Given the description of an element on the screen output the (x, y) to click on. 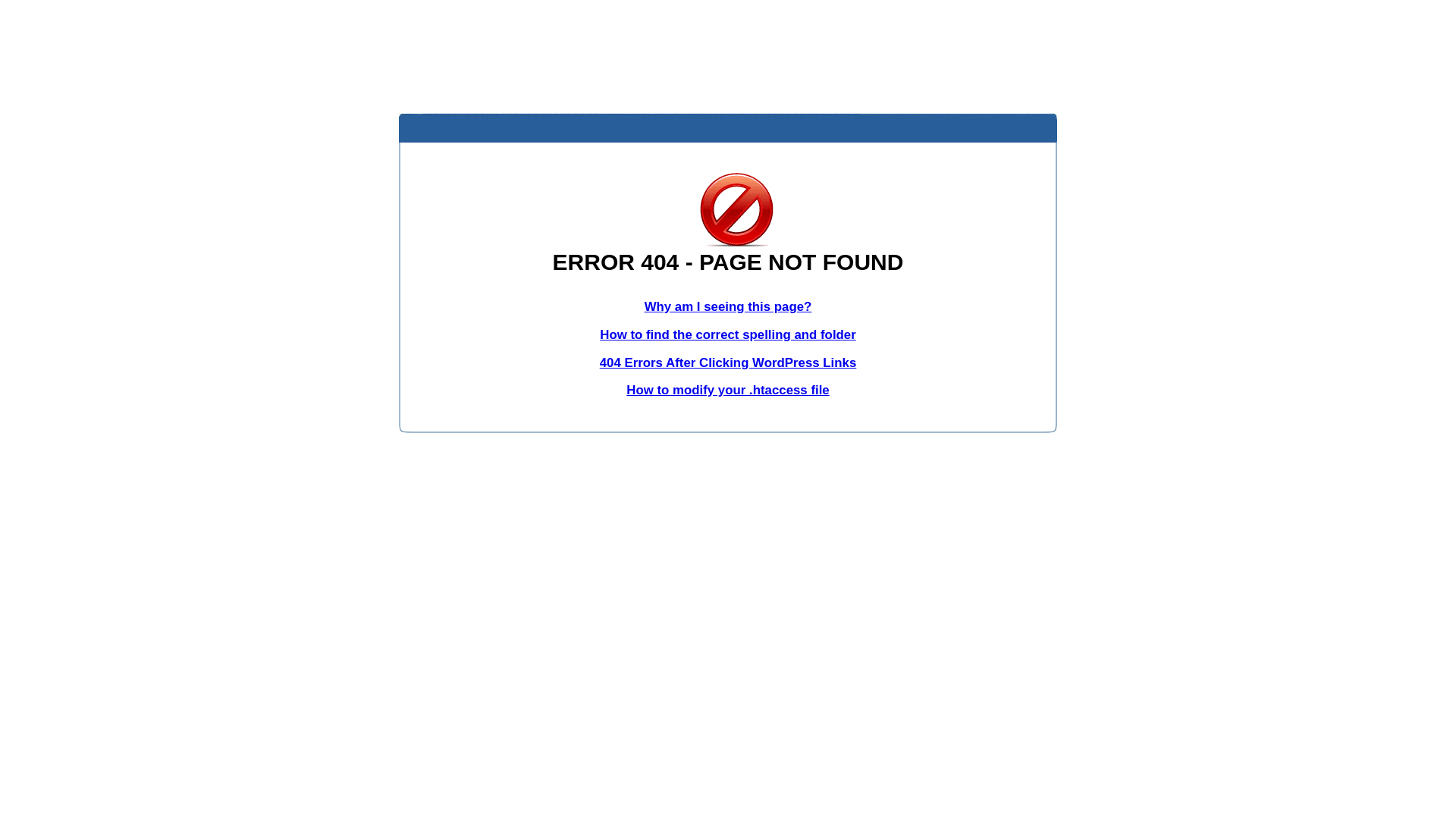
404 Errors After Clicking WordPress Links Element type: text (727, 362)
How to modify your .htaccess file Element type: text (727, 389)
How to find the correct spelling and folder Element type: text (727, 334)
Why am I seeing this page? Element type: text (728, 306)
